Given the description of an element on the screen output the (x, y) to click on. 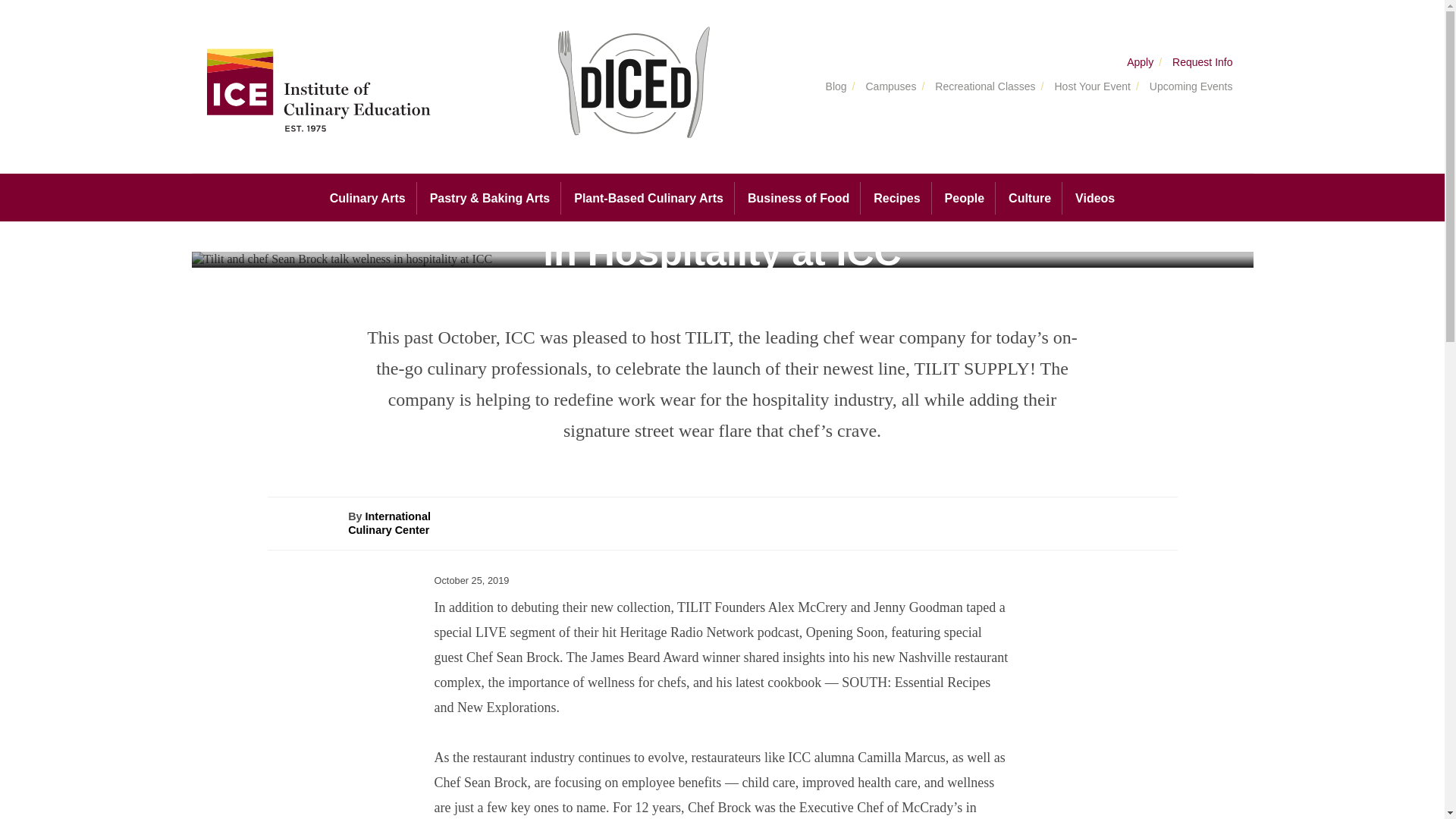
Recreational Classes (981, 87)
Business of Food (798, 198)
International Culinary Center (388, 523)
Host Your Event (1088, 87)
Blog (833, 87)
Request Info (1197, 62)
Culture (1028, 198)
Plant-Based Culinary Arts (648, 198)
